Given the description of an element on the screen output the (x, y) to click on. 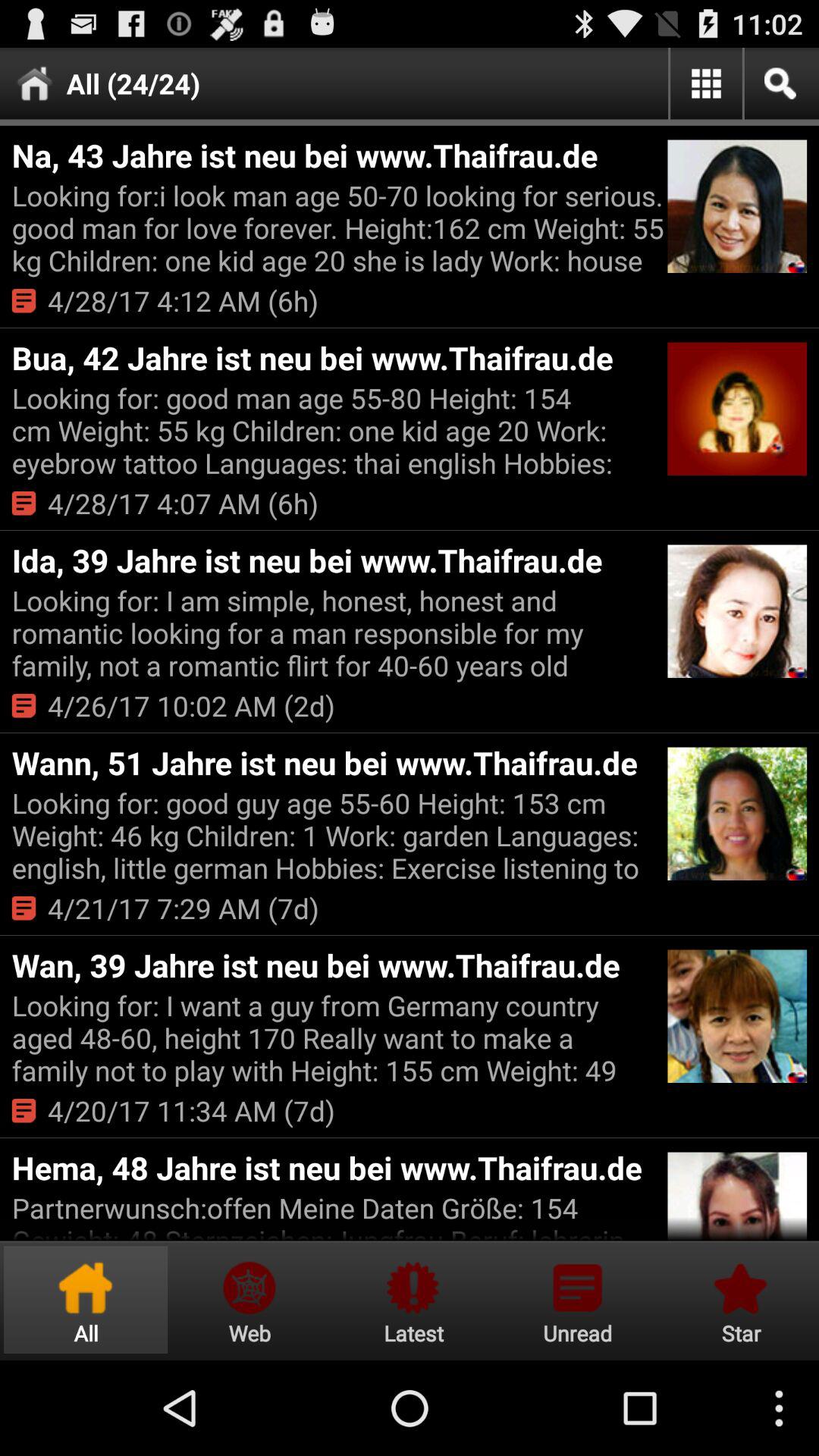
home (85, 1299)
